Given the description of an element on the screen output the (x, y) to click on. 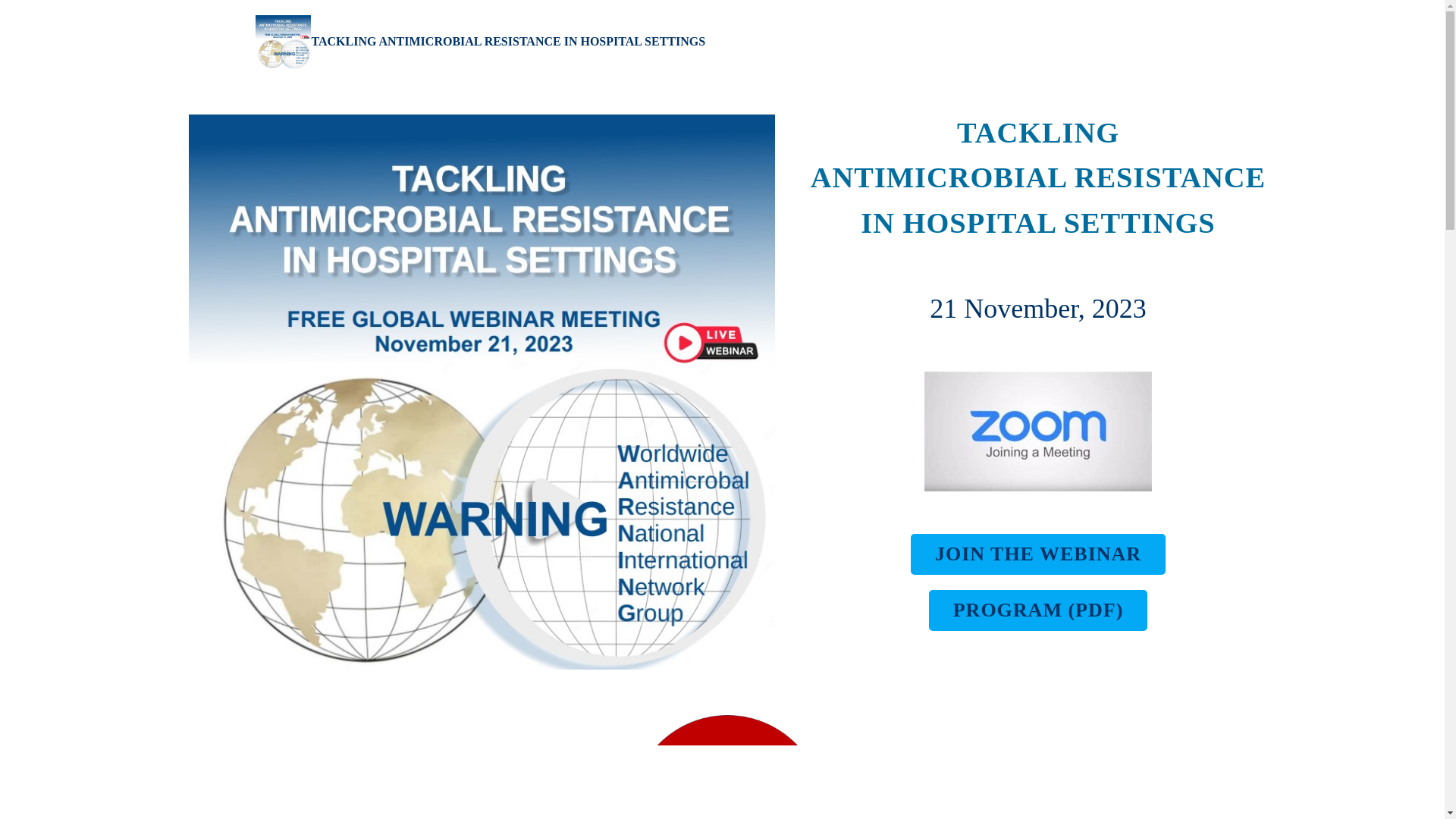
JOIN THE WEBINAR (1038, 553)
